Given the description of an element on the screen output the (x, y) to click on. 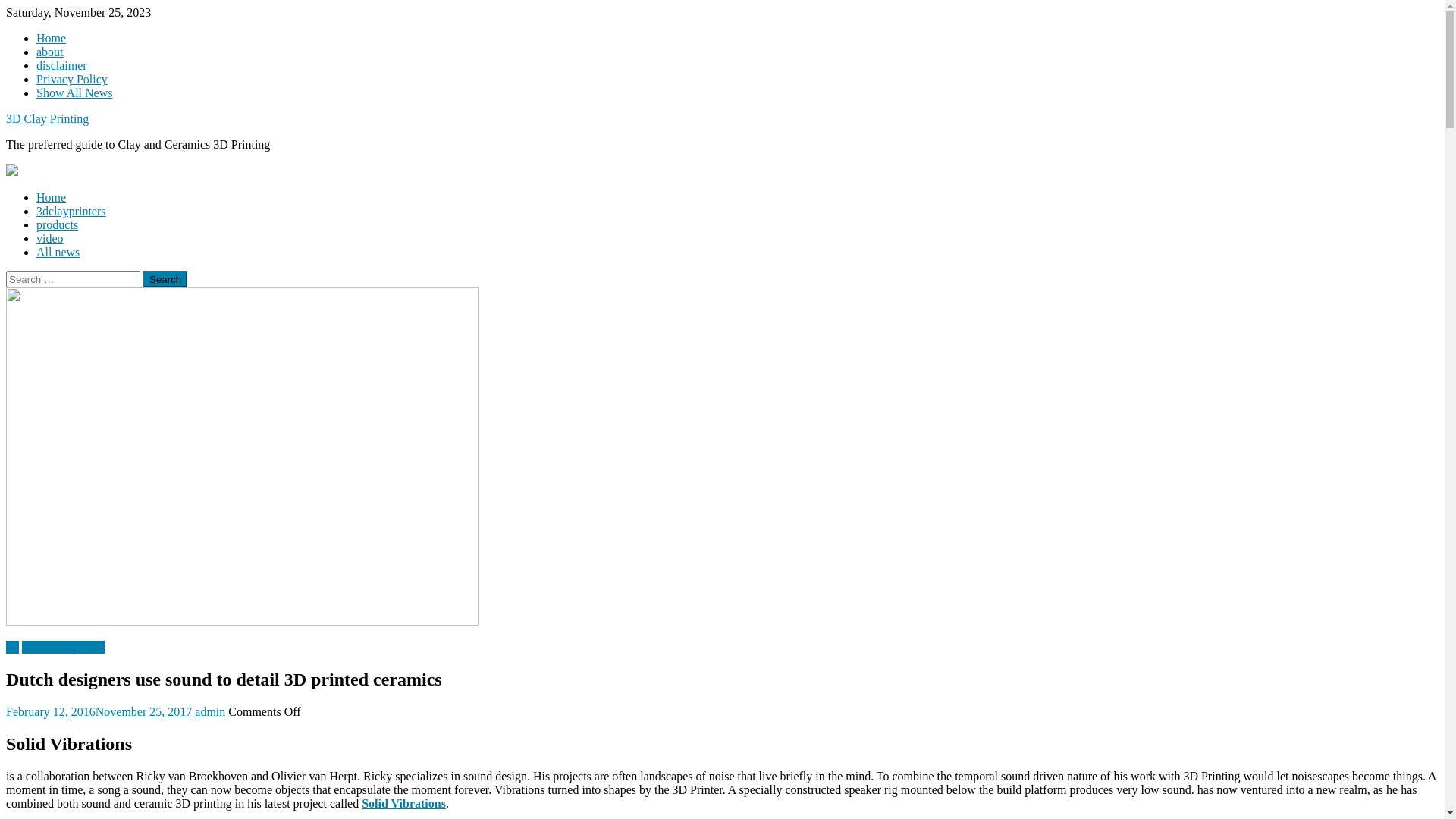
Solid Vibrations Element type: text (403, 803)
Privacy Policy Element type: text (71, 78)
February 12, 2016November 25, 2017 Element type: text (98, 711)
3D Clay Printing Element type: text (47, 118)
Home Element type: text (50, 37)
disclaimer Element type: text (61, 65)
Skip to content Element type: text (5, 5)
Show All News Element type: text (74, 92)
art Element type: text (12, 646)
Search Element type: text (165, 279)
products Element type: text (57, 224)
Home Element type: text (50, 197)
3dclayprinters Element type: text (71, 210)
admin Element type: text (209, 711)
about Element type: text (49, 51)
DIY delta printer Element type: text (63, 646)
All news Element type: text (57, 251)
video Element type: text (49, 238)
